Given the description of an element on the screen output the (x, y) to click on. 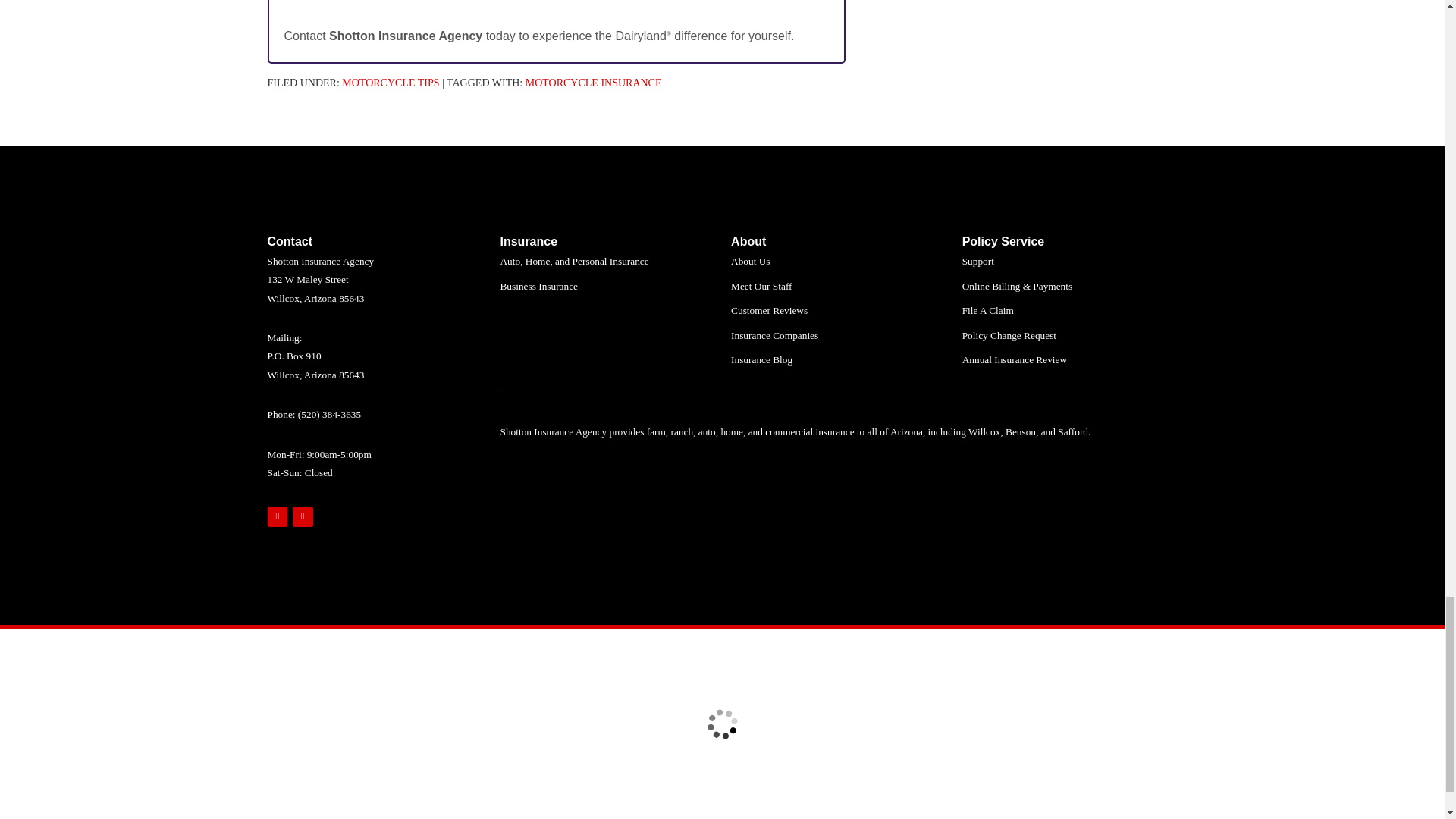
Yelp (302, 516)
Google Maps (276, 516)
Motorcycle Tips (390, 82)
Motorcycle Insurance (593, 82)
